Given the description of an element on the screen output the (x, y) to click on. 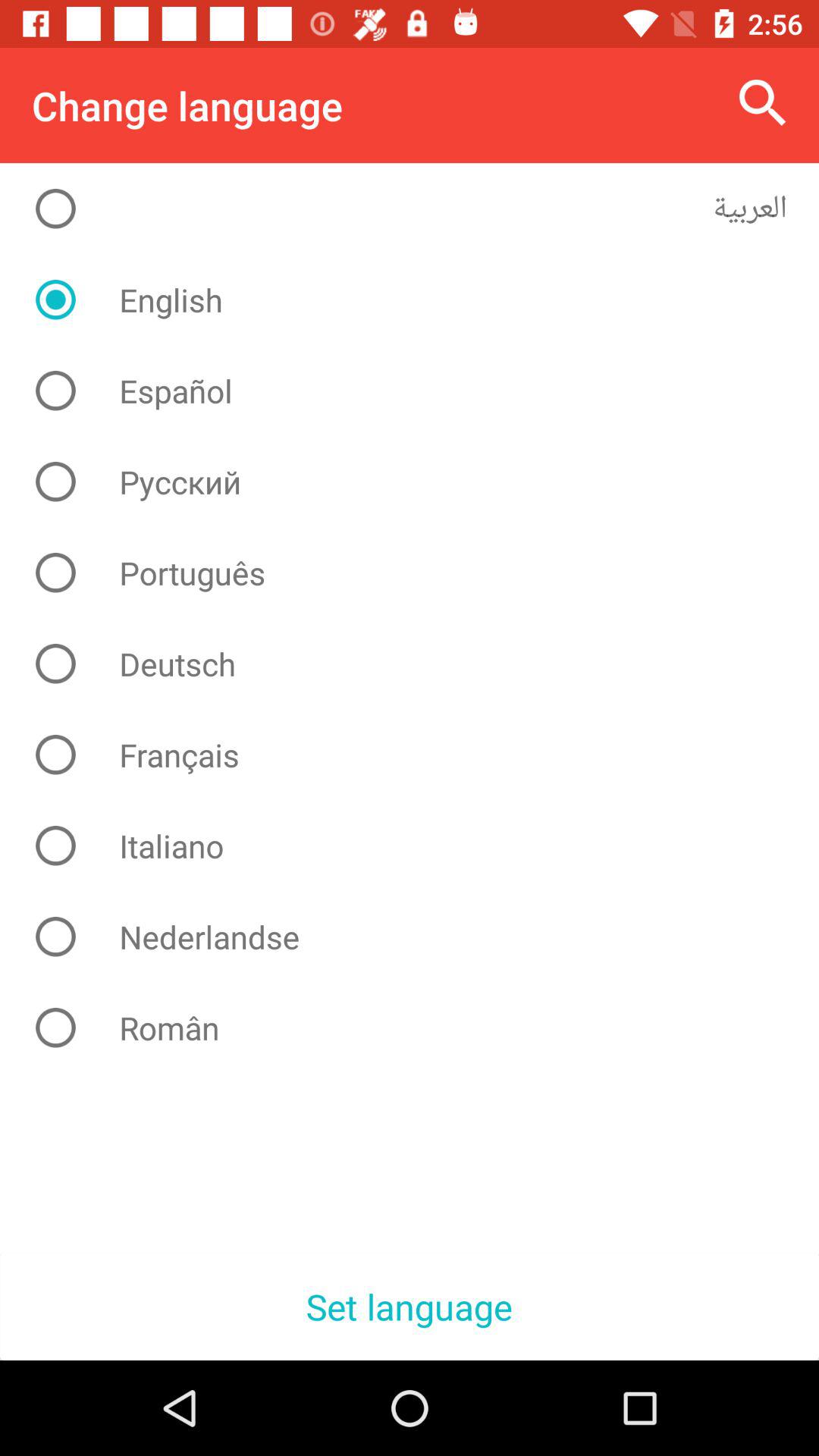
jump until italiano item (421, 845)
